Given the description of an element on the screen output the (x, y) to click on. 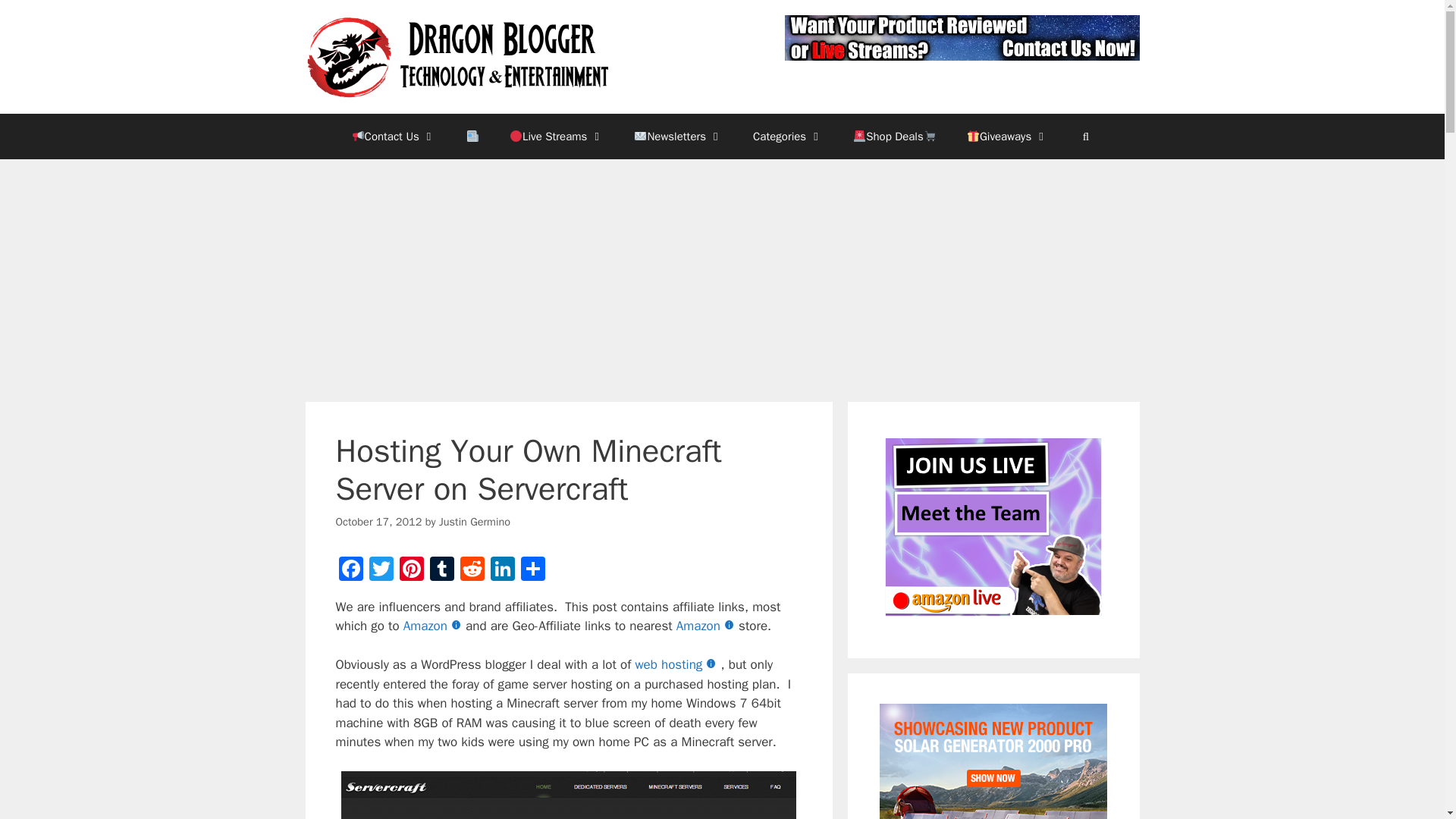
Amazon Homepage (707, 625)
Reddit (471, 570)
LinkedIn (501, 570)
Facebook (349, 570)
Twitter (380, 570)
inmotion (677, 664)
Tumblr (441, 570)
Amazon Homepage (434, 625)
Live Streams (556, 135)
View all posts by Justin Germino (475, 521)
Contact Us (393, 135)
Categories (788, 135)
Newsletters (678, 135)
Pinterest (411, 570)
